Given the description of an element on the screen output the (x, y) to click on. 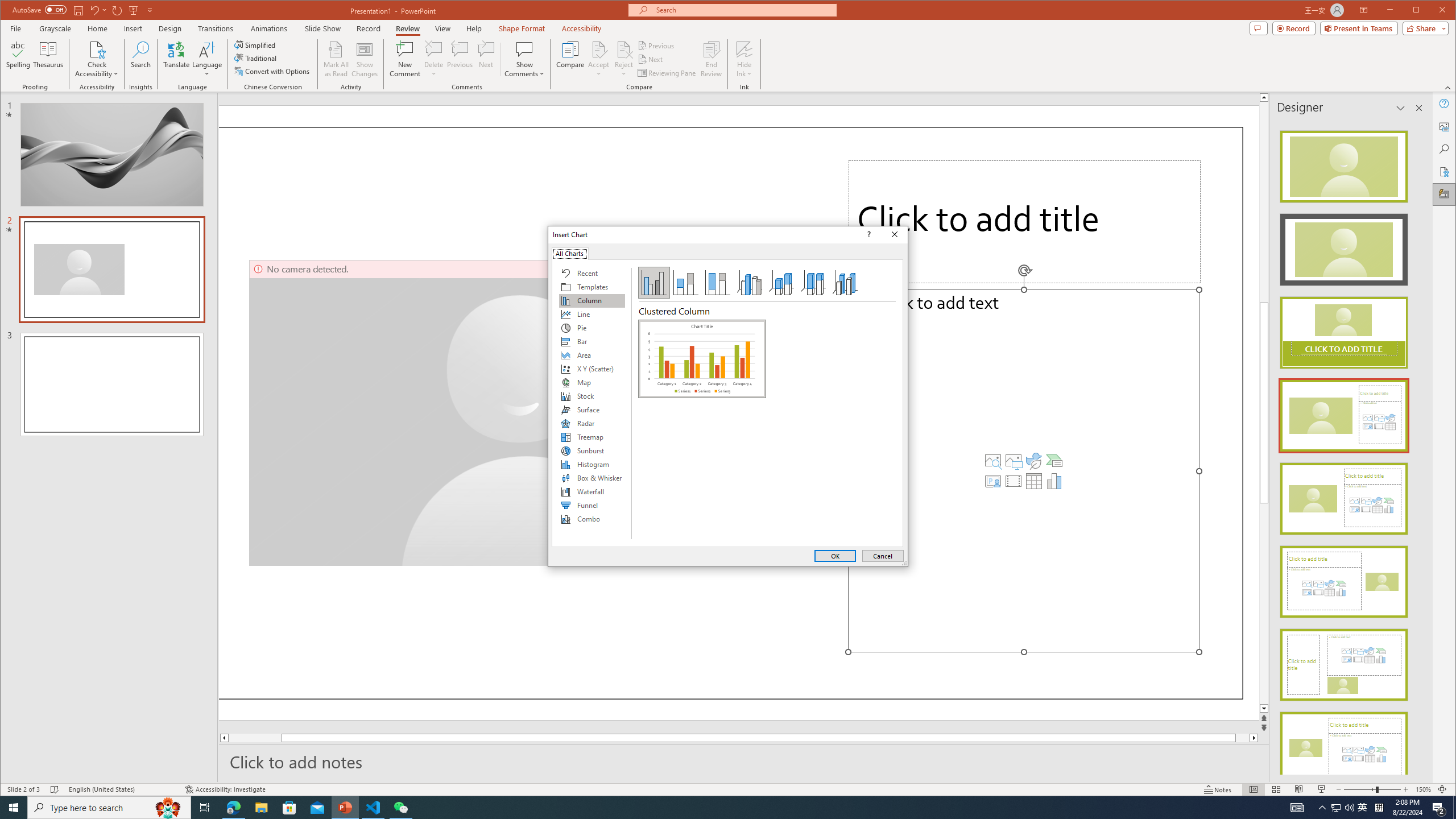
WeChat - 1 running window (400, 807)
Insert Table (1033, 480)
New Comment (405, 59)
3-D Stacked Column (781, 282)
Map (591, 382)
Insert Cameo (992, 480)
Reject Change (623, 48)
